Given the description of an element on the screen output the (x, y) to click on. 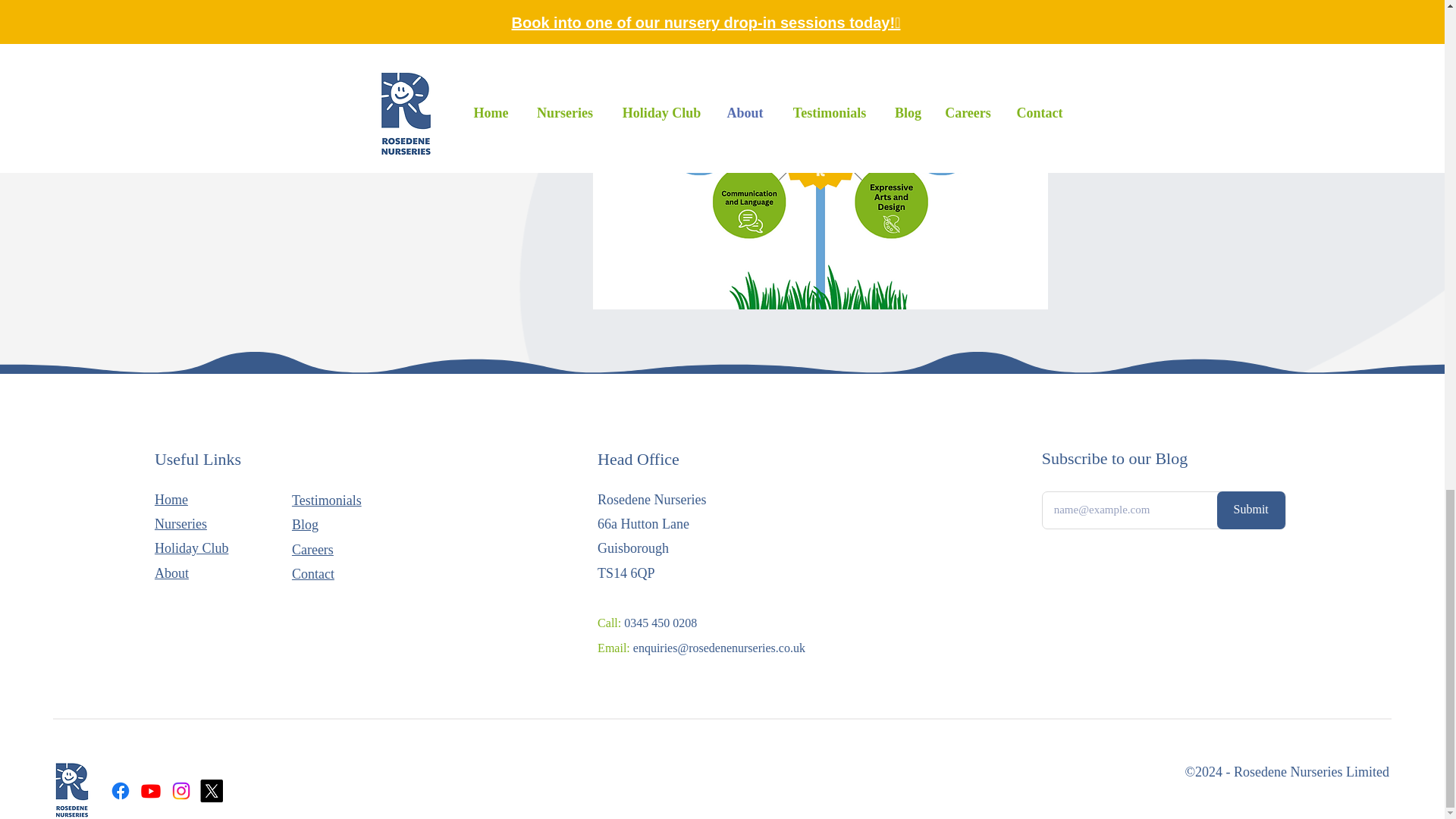
Contact (313, 573)
Home (170, 499)
Blog (305, 524)
Careers (312, 549)
Nurseries (180, 523)
Holiday Club (191, 548)
Testimonials (326, 500)
About (171, 572)
